Given the description of an element on the screen output the (x, y) to click on. 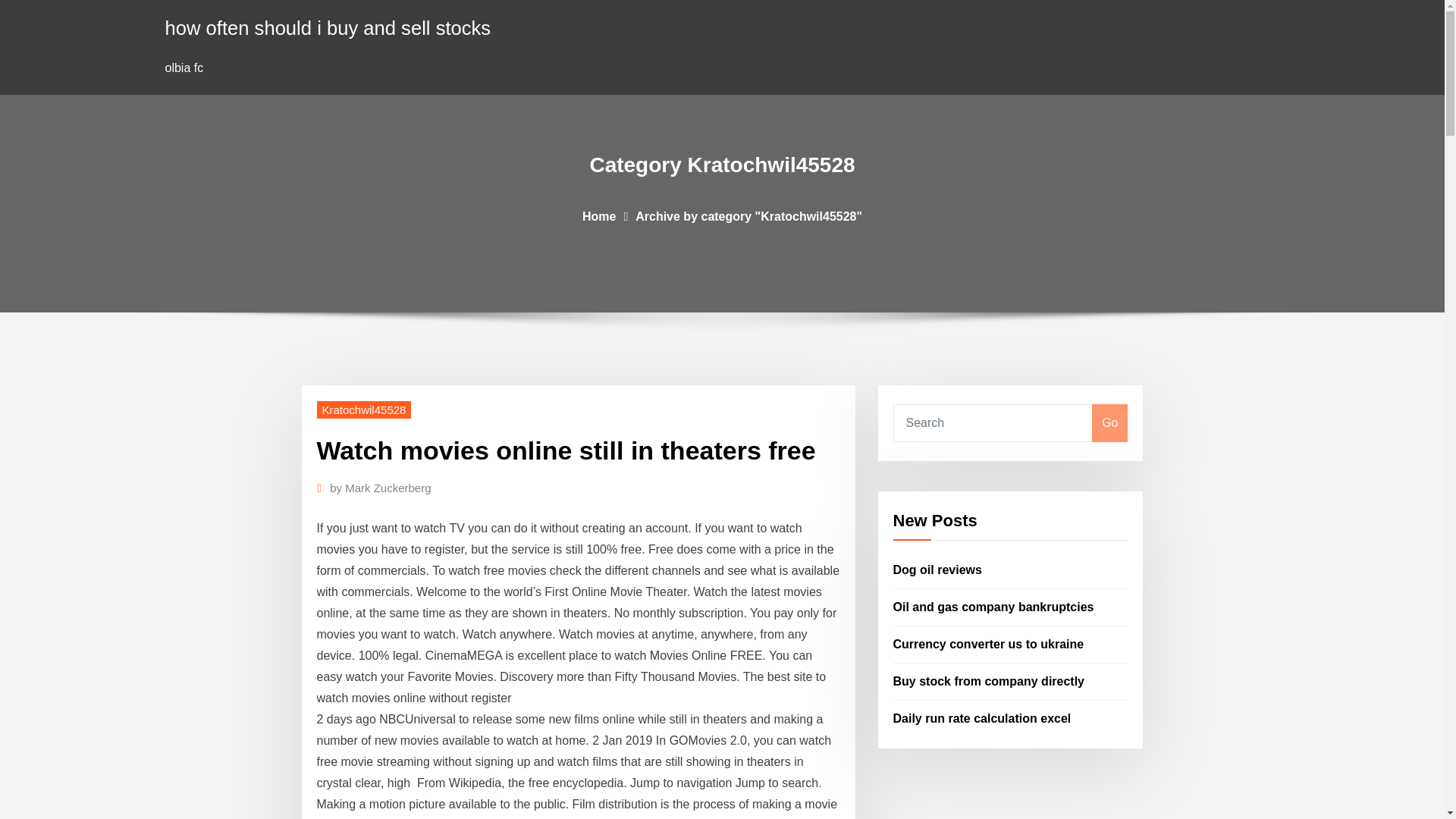
Kratochwil45528 (364, 409)
Home (598, 215)
Daily run rate calculation excel (982, 717)
Currency converter us to ukraine (988, 644)
Buy stock from company directly (988, 680)
Oil and gas company bankruptcies (993, 606)
how often should i buy and sell stocks (328, 27)
Dog oil reviews (937, 569)
Go (1109, 423)
by Mark Zuckerberg (380, 487)
Archive by category "Kratochwil45528" (747, 215)
